Given the description of an element on the screen output the (x, y) to click on. 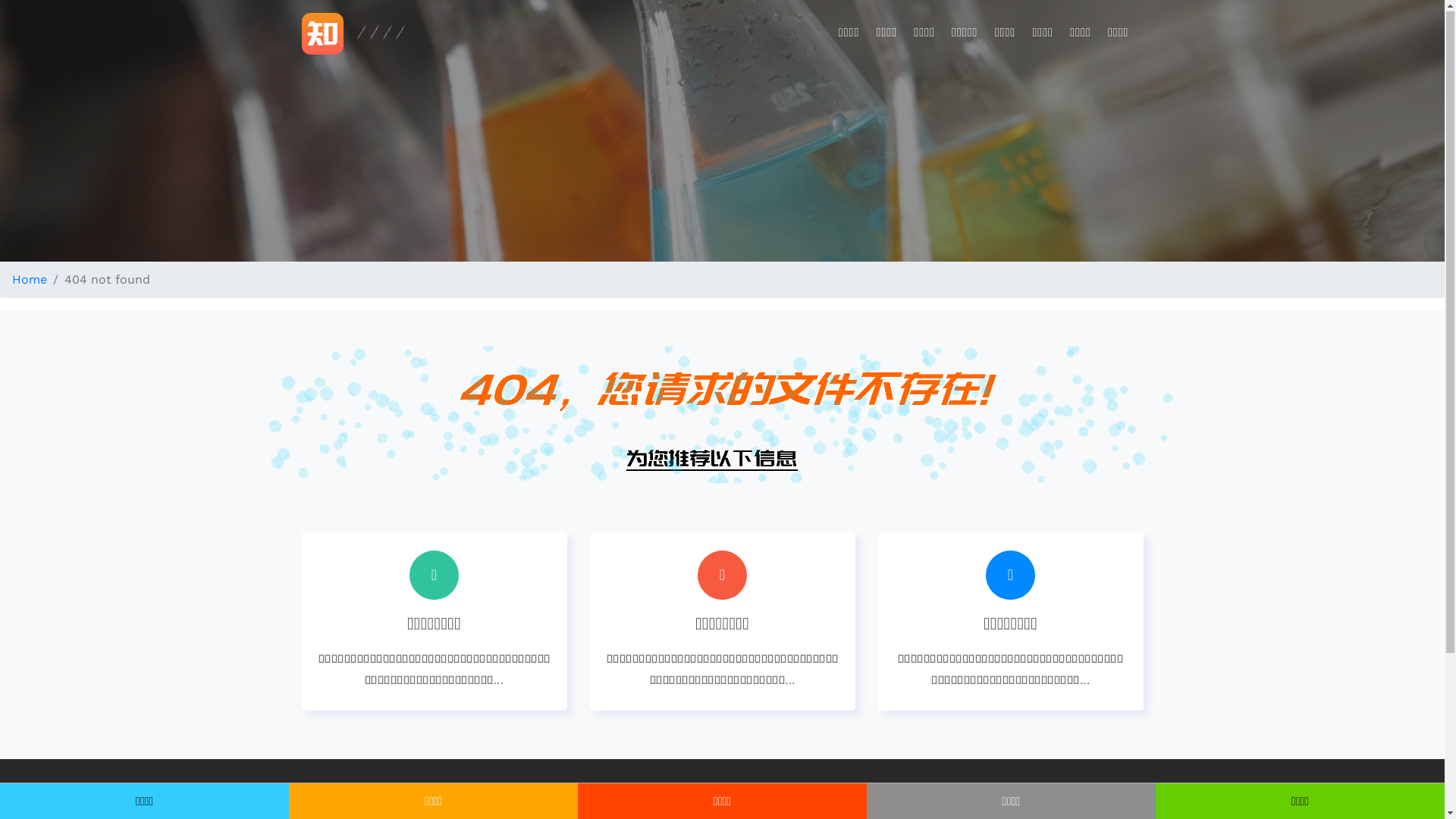
404 not found Element type: hover (721, 415)
Home Element type: text (29, 280)
